Given the description of an element on the screen output the (x, y) to click on. 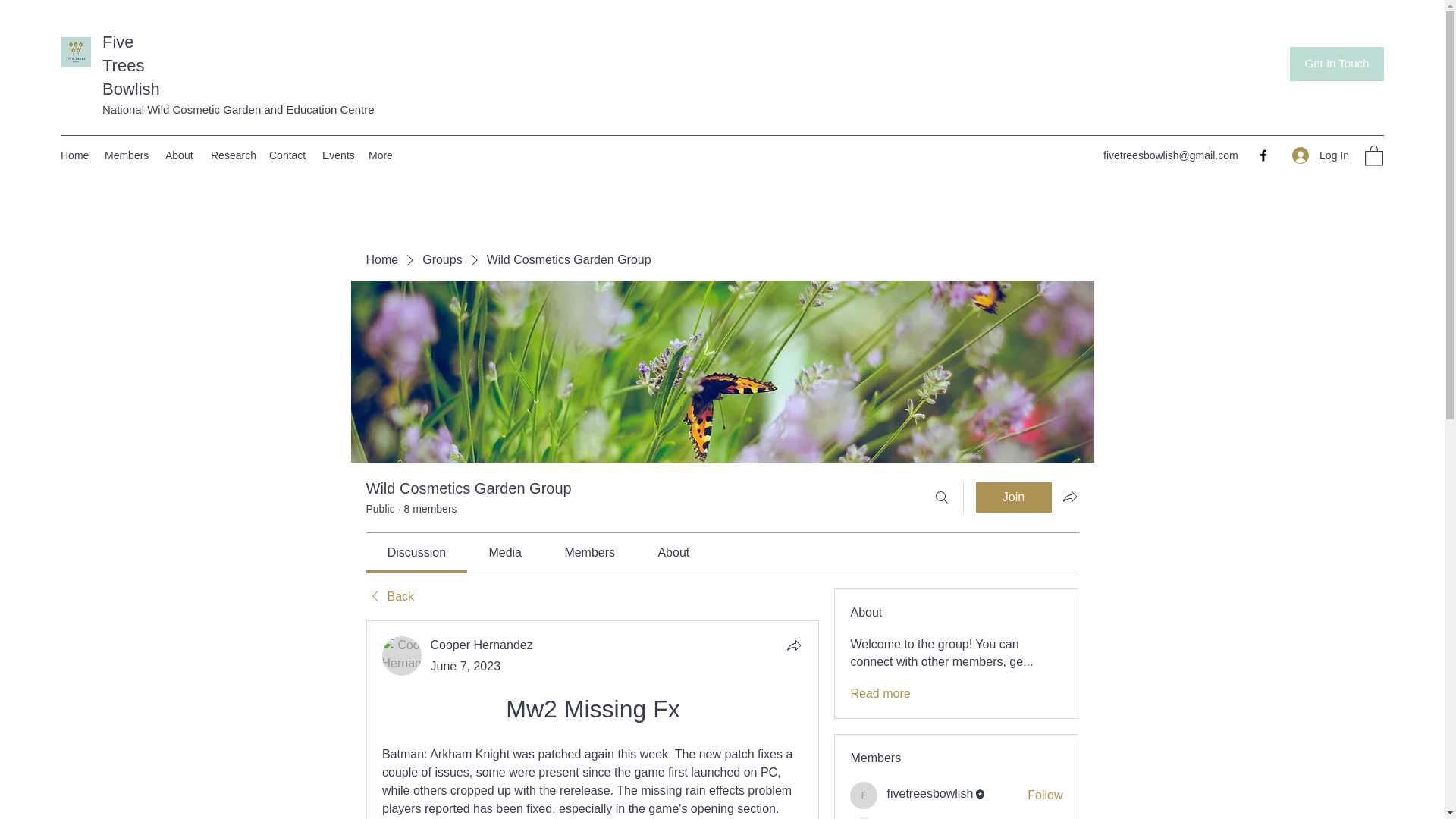
Home (381, 259)
Read more (880, 693)
Cooper Hernandez (481, 644)
Home (74, 155)
About (180, 155)
Follow (1044, 795)
Events (337, 155)
fivetreesbowlish (863, 795)
fivetreesbowlish (929, 793)
